Given the description of an element on the screen output the (x, y) to click on. 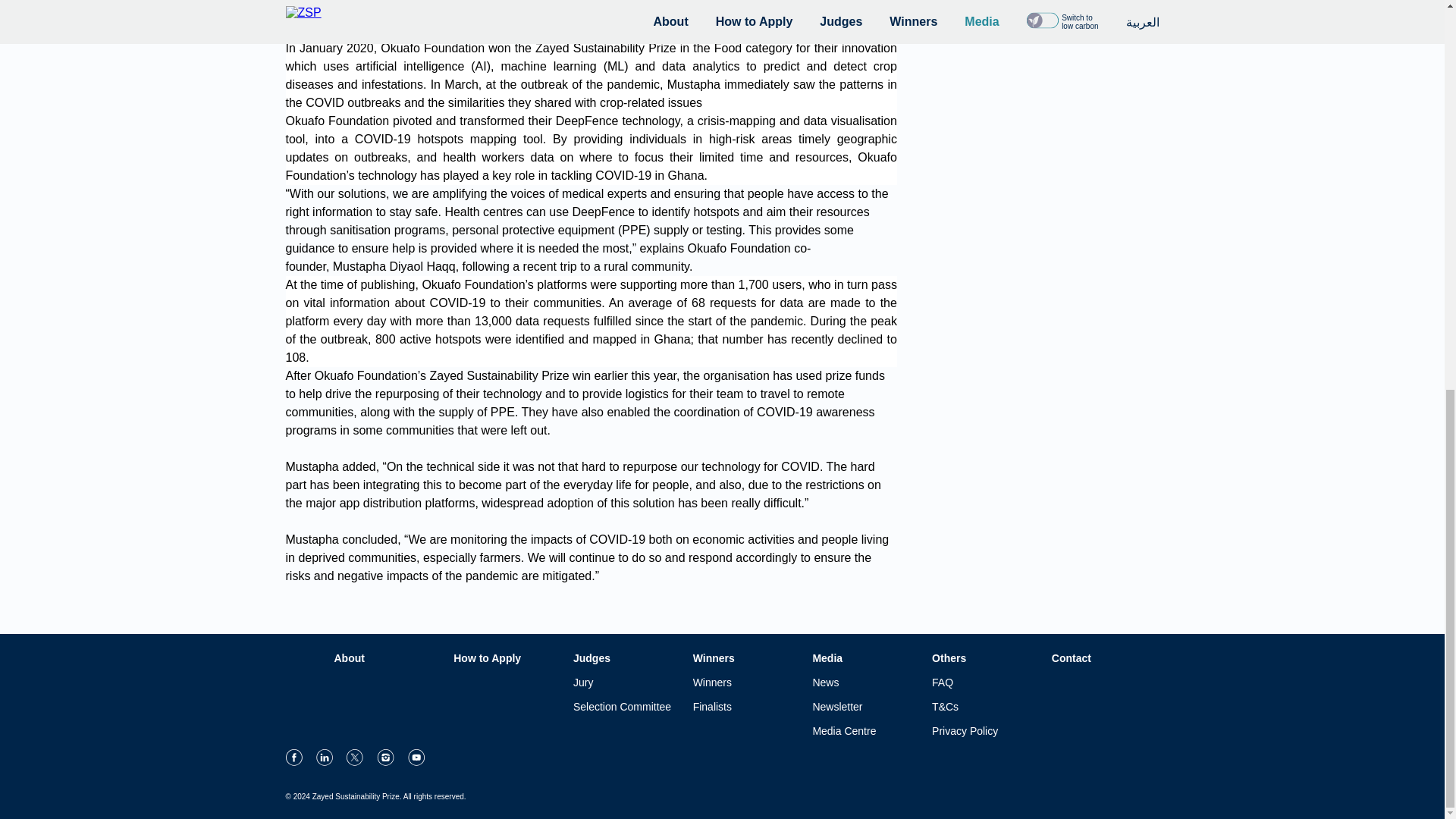
Judges (627, 657)
Selection Committee (627, 706)
Contact (1104, 657)
Others (985, 657)
FAQ (985, 682)
About (387, 657)
Finalists (746, 706)
Jury (627, 682)
Privacy Policy (985, 730)
Winners (746, 682)
